Given the description of an element on the screen output the (x, y) to click on. 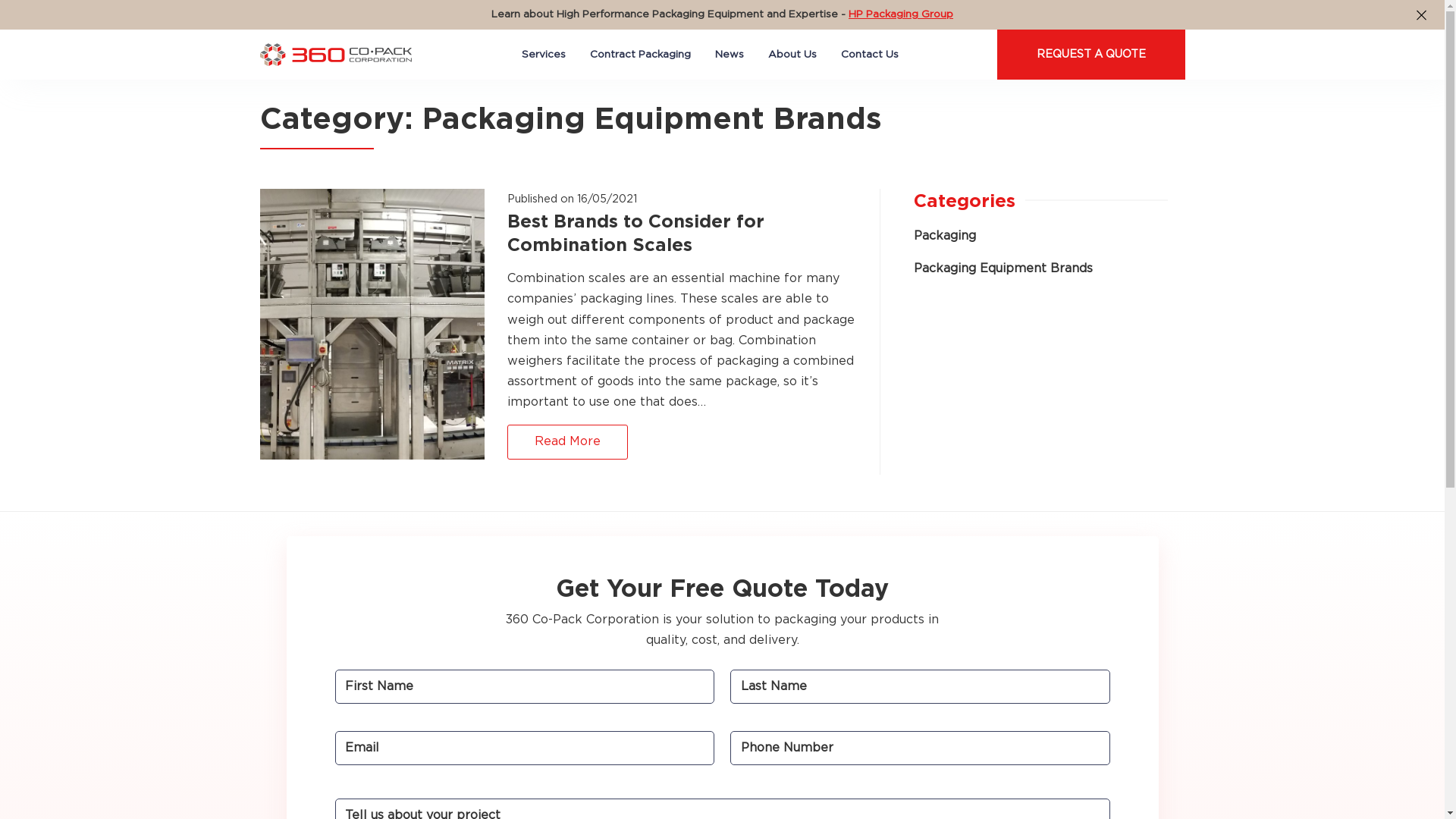
REQUEST A QUOTE Element type: text (1090, 54)
Packaging Equipment Brands Element type: text (1002, 268)
Read More Element type: text (567, 441)
Contract Packaging Element type: text (639, 54)
Contact Us Element type: text (869, 54)
Services Element type: text (543, 54)
Packaging Element type: text (944, 235)
News Element type: text (729, 54)
Best Brands to Consider for Combination Scales Element type: text (681, 241)
Read More Element type: text (567, 441)
About Us Element type: text (792, 54)
